Given the description of an element on the screen output the (x, y) to click on. 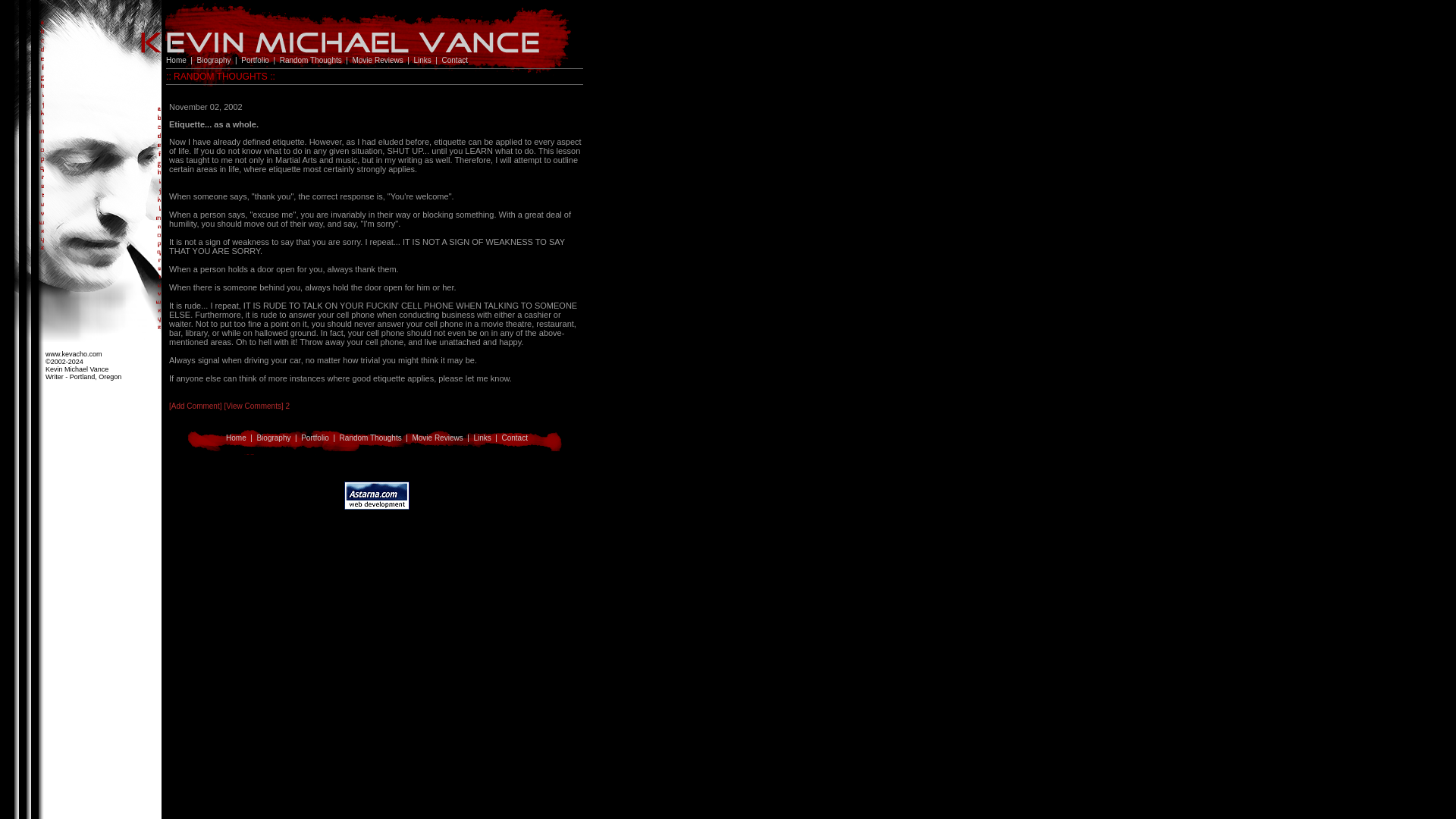
Random Thoughts (370, 438)
Movie Reviews (437, 438)
Portfolio (315, 438)
Random Thoughts (310, 60)
Movie Reviews (377, 60)
Home (235, 438)
Contact (513, 438)
Home (175, 60)
Portfolio (255, 60)
Contact (454, 60)
